Given the description of an element on the screen output the (x, y) to click on. 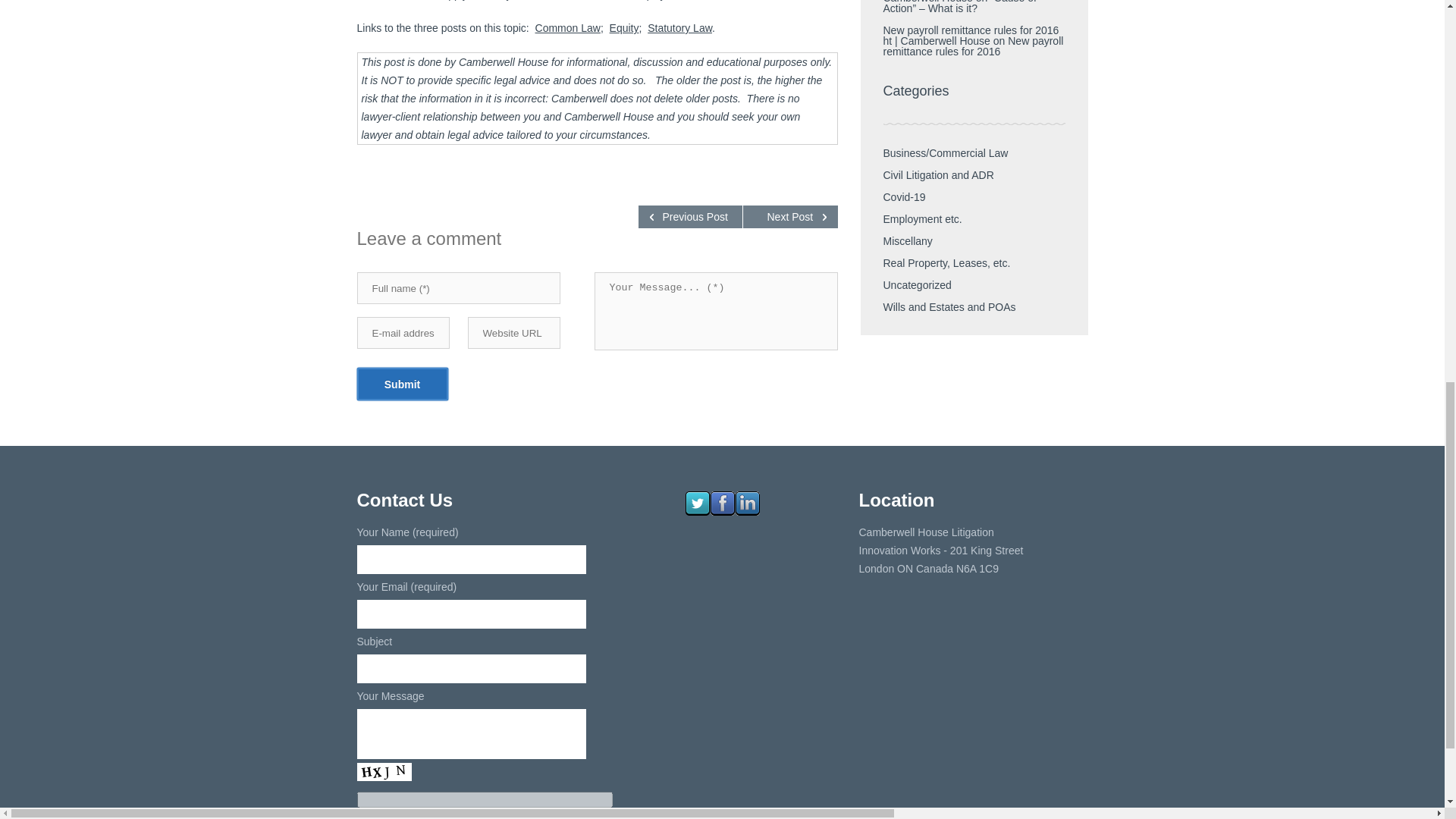
Previous Post (690, 216)
Visit Us On Twitter (696, 511)
Common Law (567, 28)
Next Post (790, 216)
Visit Us On Facebook (722, 511)
Send (470, 815)
New payroll remittance rules for 2016 (972, 46)
Statutory Law (679, 28)
Visit Us On Linkedin (745, 511)
Submit (401, 383)
Submit (401, 383)
Equity (624, 28)
